Given the description of an element on the screen output the (x, y) to click on. 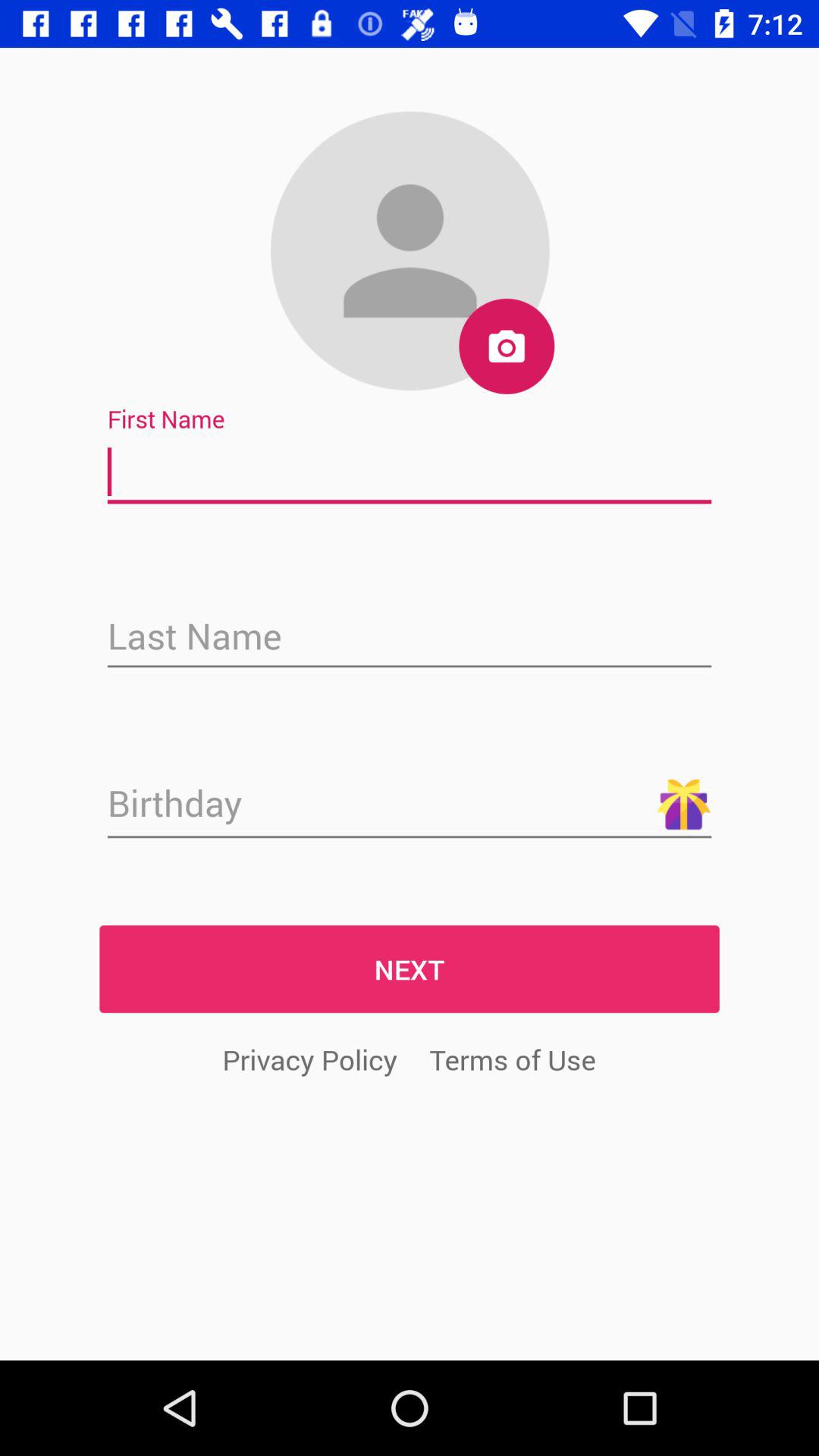
next sign in (409, 804)
